Given the description of an element on the screen output the (x, y) to click on. 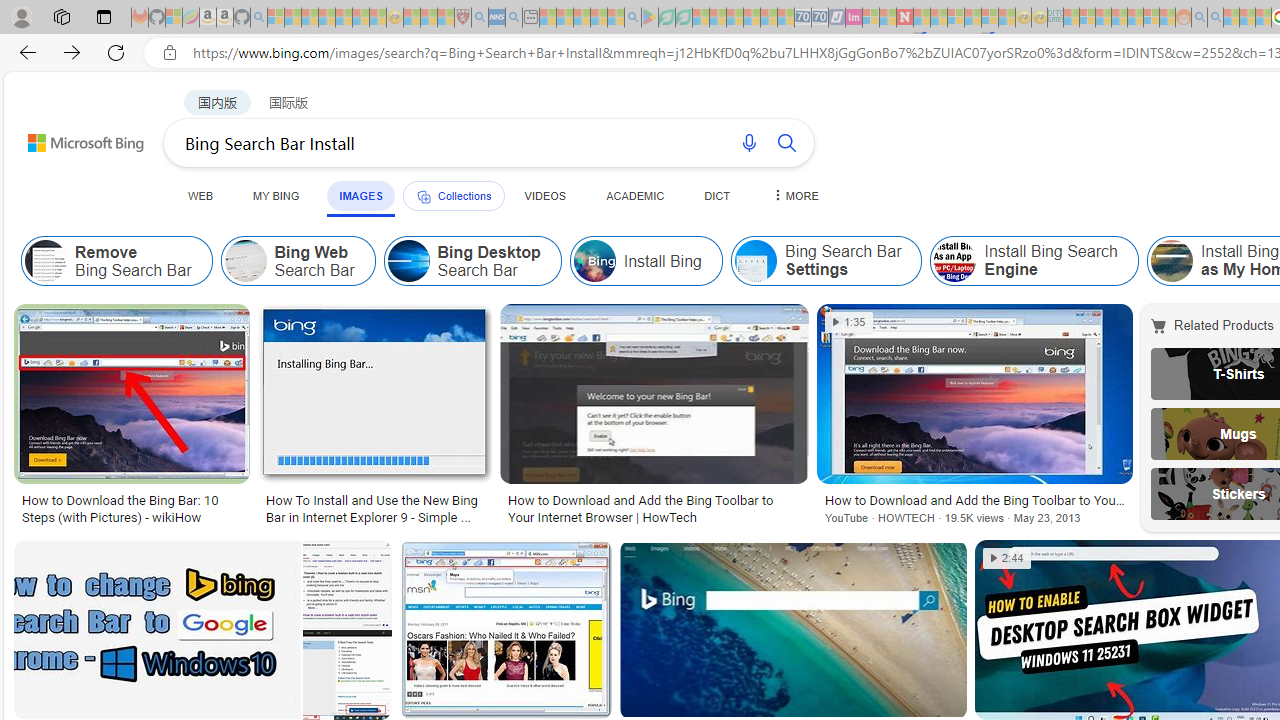
DICT (717, 195)
Remove Bing Search Bar (116, 260)
WEB (201, 195)
Bing Web Search Bar (245, 260)
